Given the description of an element on the screen output the (x, y) to click on. 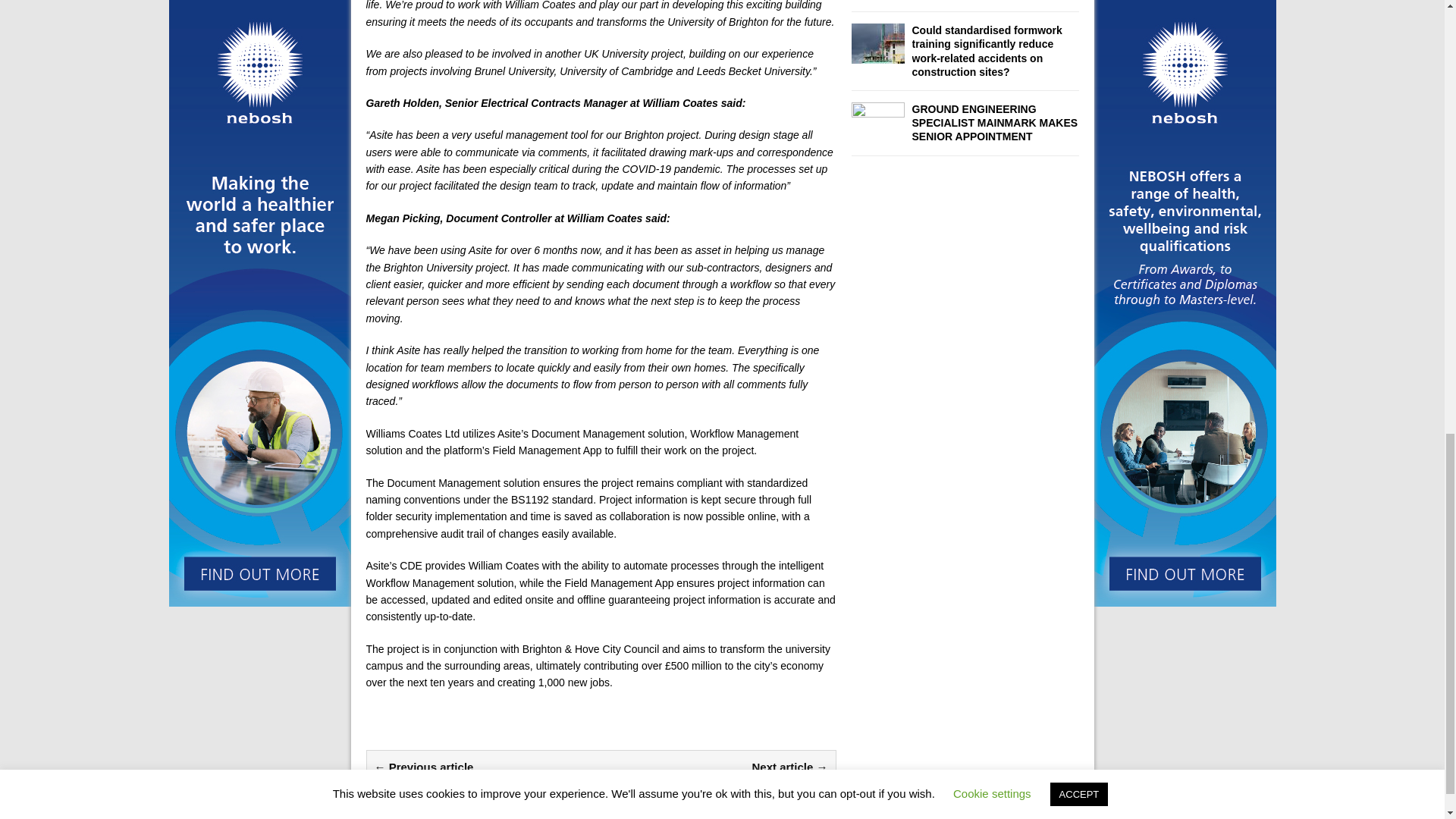
Share on Linkedin (460, 728)
Share on Facebook (381, 728)
Share on Twitter (421, 728)
